Given the description of an element on the screen output the (x, y) to click on. 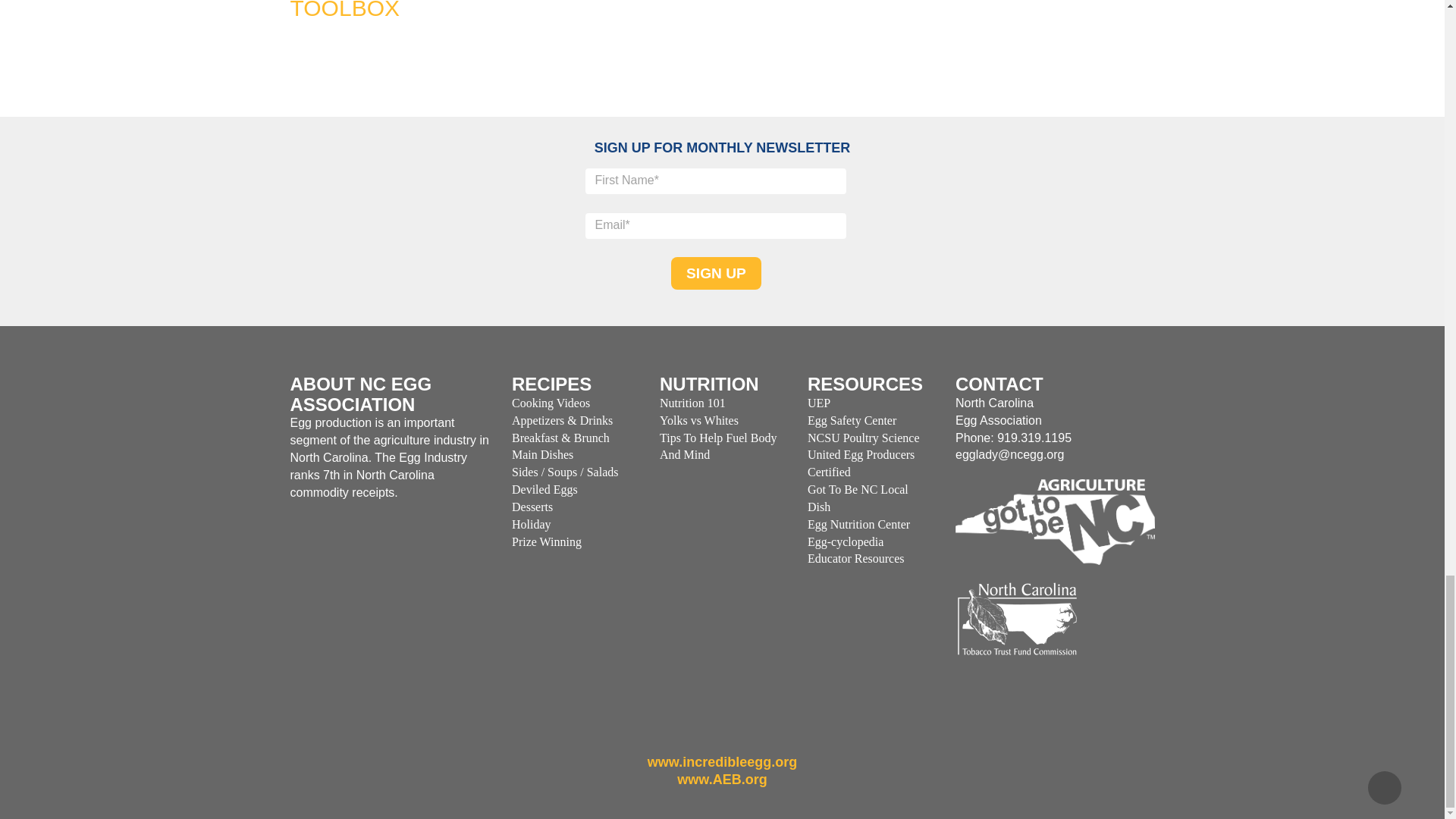
Sign Up (716, 273)
